Given the description of an element on the screen output the (x, y) to click on. 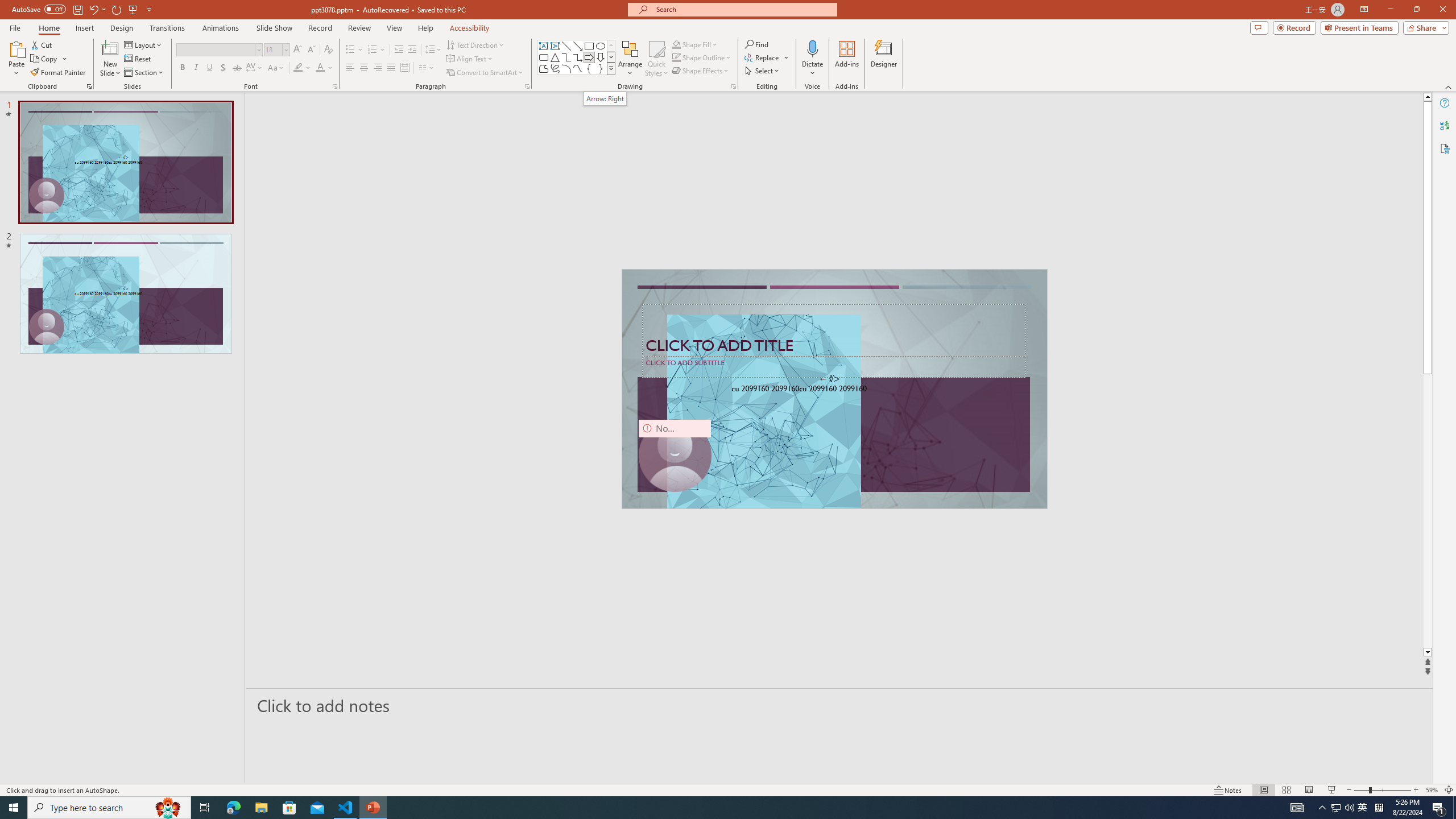
An abstract genetic concept (833, 388)
Zoom 59% (1431, 790)
AutomationID: ShapesInsertGallery (576, 57)
Decrease Font Size (310, 49)
Isosceles Triangle (554, 57)
Increase Font Size (297, 49)
